Given the description of an element on the screen output the (x, y) to click on. 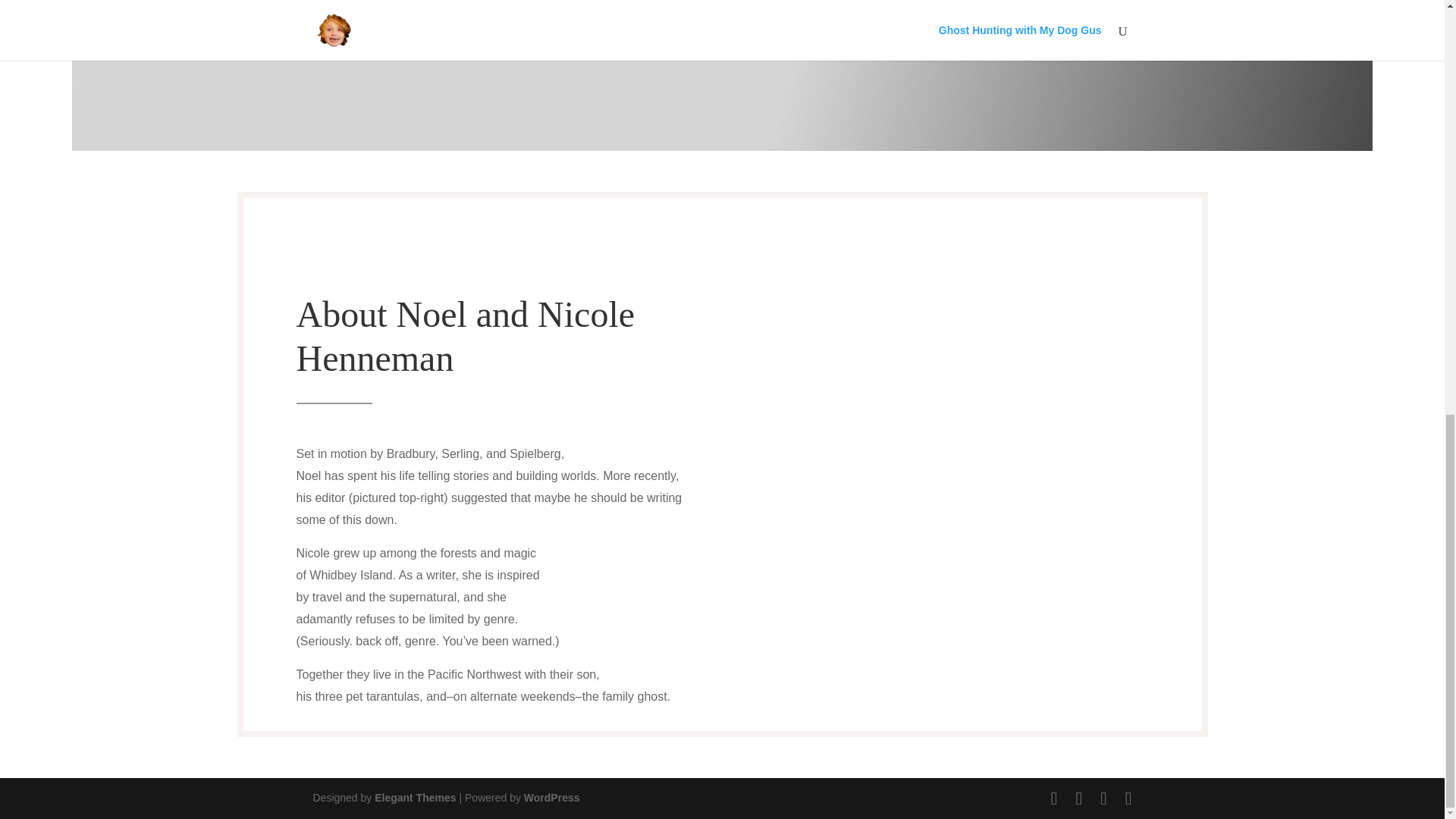
Elegant Themes (414, 797)
WordPress (551, 797)
Premium WordPress Themes (414, 797)
